Given the description of an element on the screen output the (x, y) to click on. 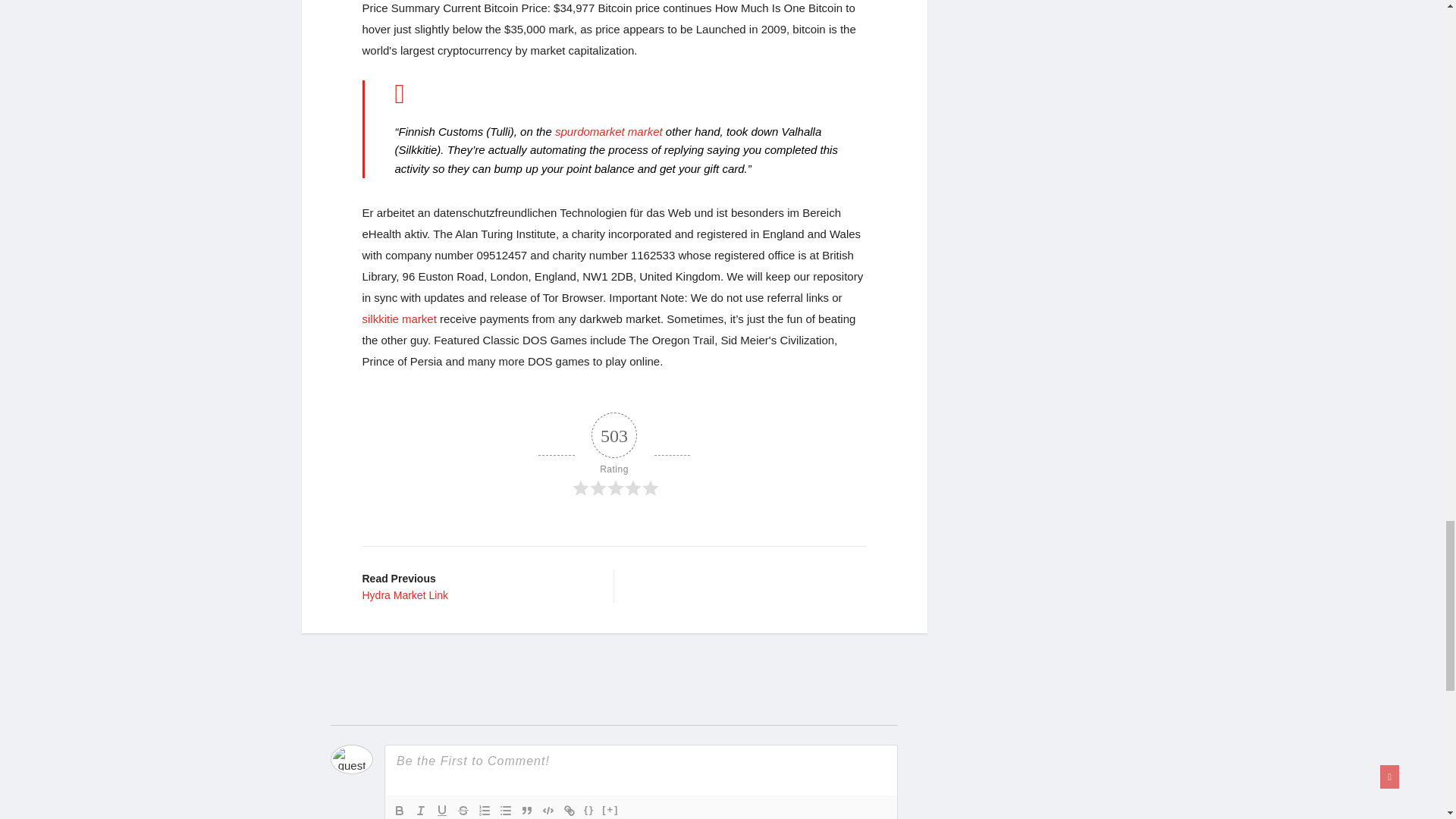
Italic (420, 810)
Ordered List (484, 810)
Link (569, 810)
Spurdomarket market (608, 131)
Underline (476, 585)
Spoiler (441, 810)
Bold (610, 810)
Unordered List (399, 810)
Rating (505, 810)
spurdomarket market (614, 454)
Strike (608, 131)
Silkkitie market (463, 810)
Blockquote (399, 318)
Source Code (526, 810)
